Given the description of an element on the screen output the (x, y) to click on. 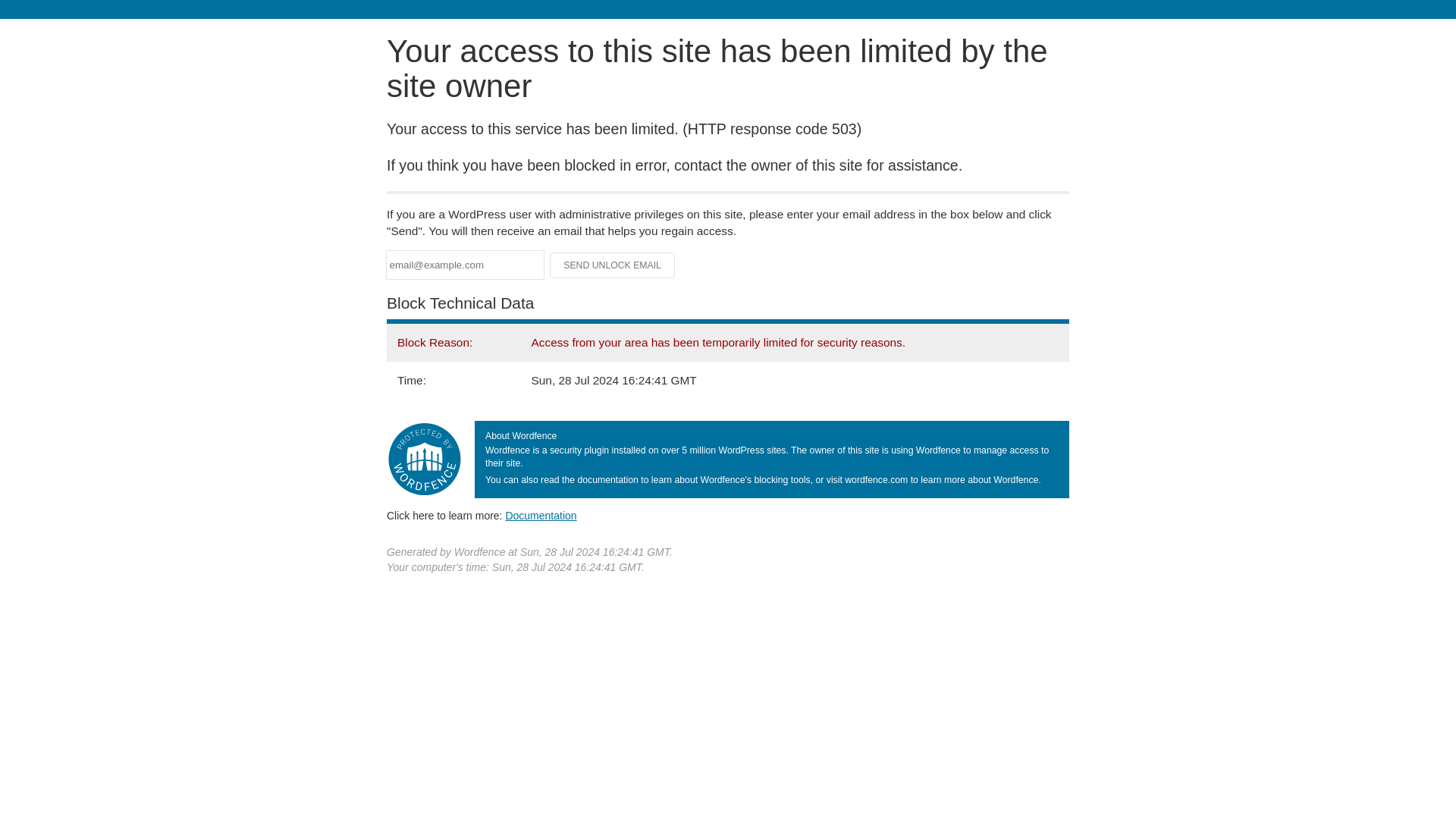
Documentation (540, 515)
Send Unlock Email (612, 265)
Send Unlock Email (612, 265)
